Given the description of an element on the screen output the (x, y) to click on. 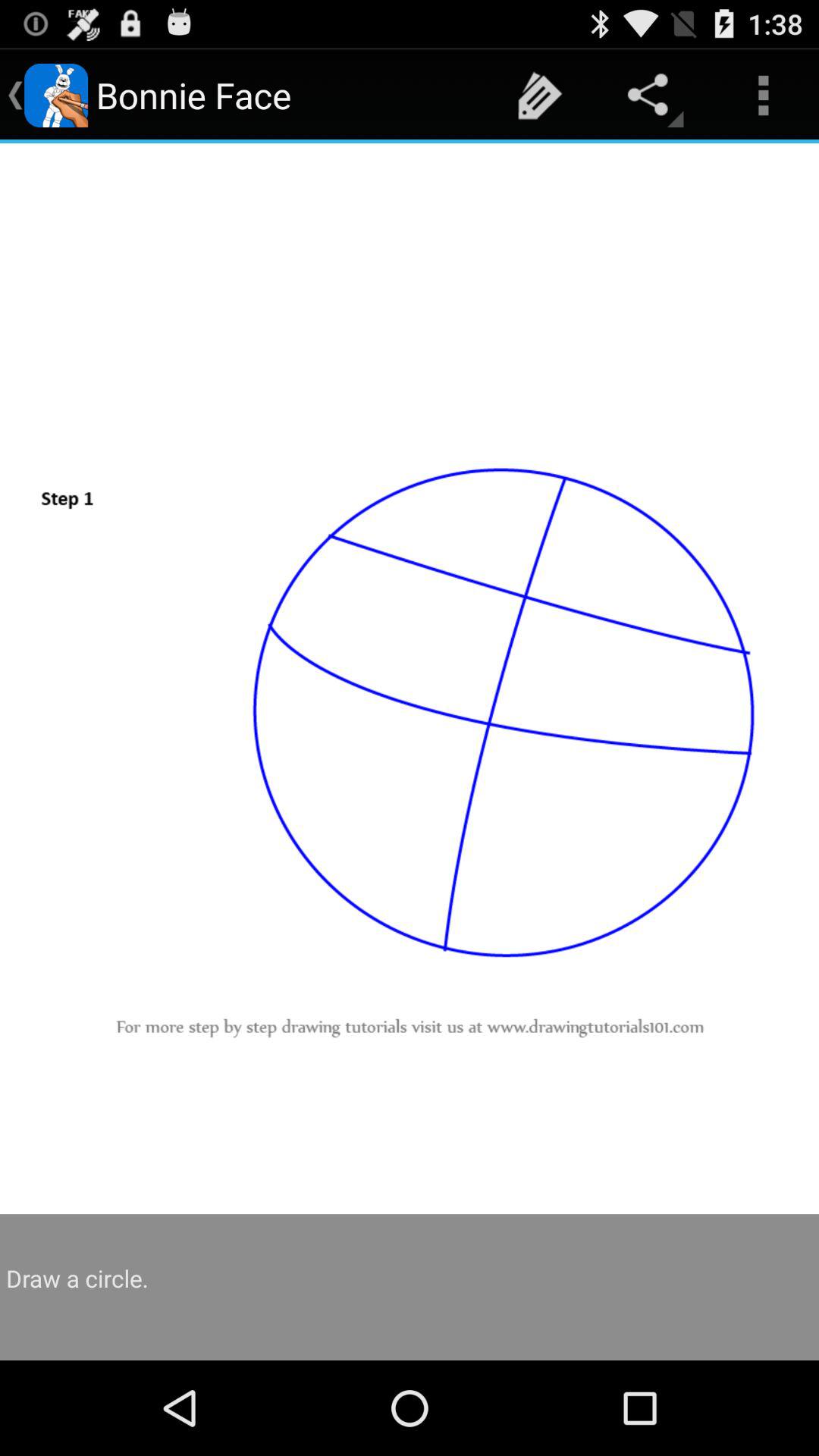
turn on icon at the top (540, 95)
